Given the description of an element on the screen output the (x, y) to click on. 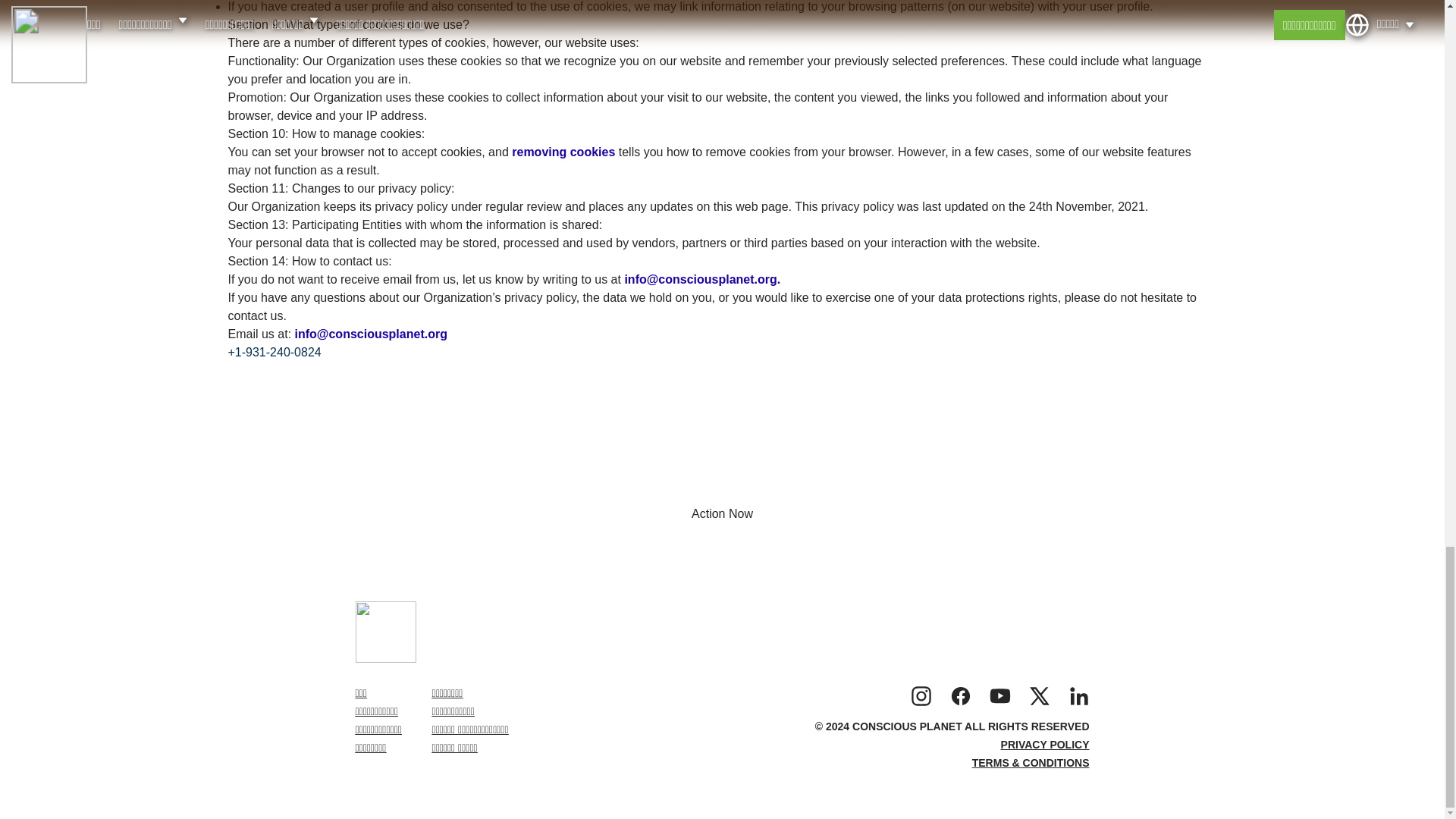
PRIVACY POLICY (1045, 744)
Action Now (721, 513)
removing cookies (565, 151)
